Given the description of an element on the screen output the (x, y) to click on. 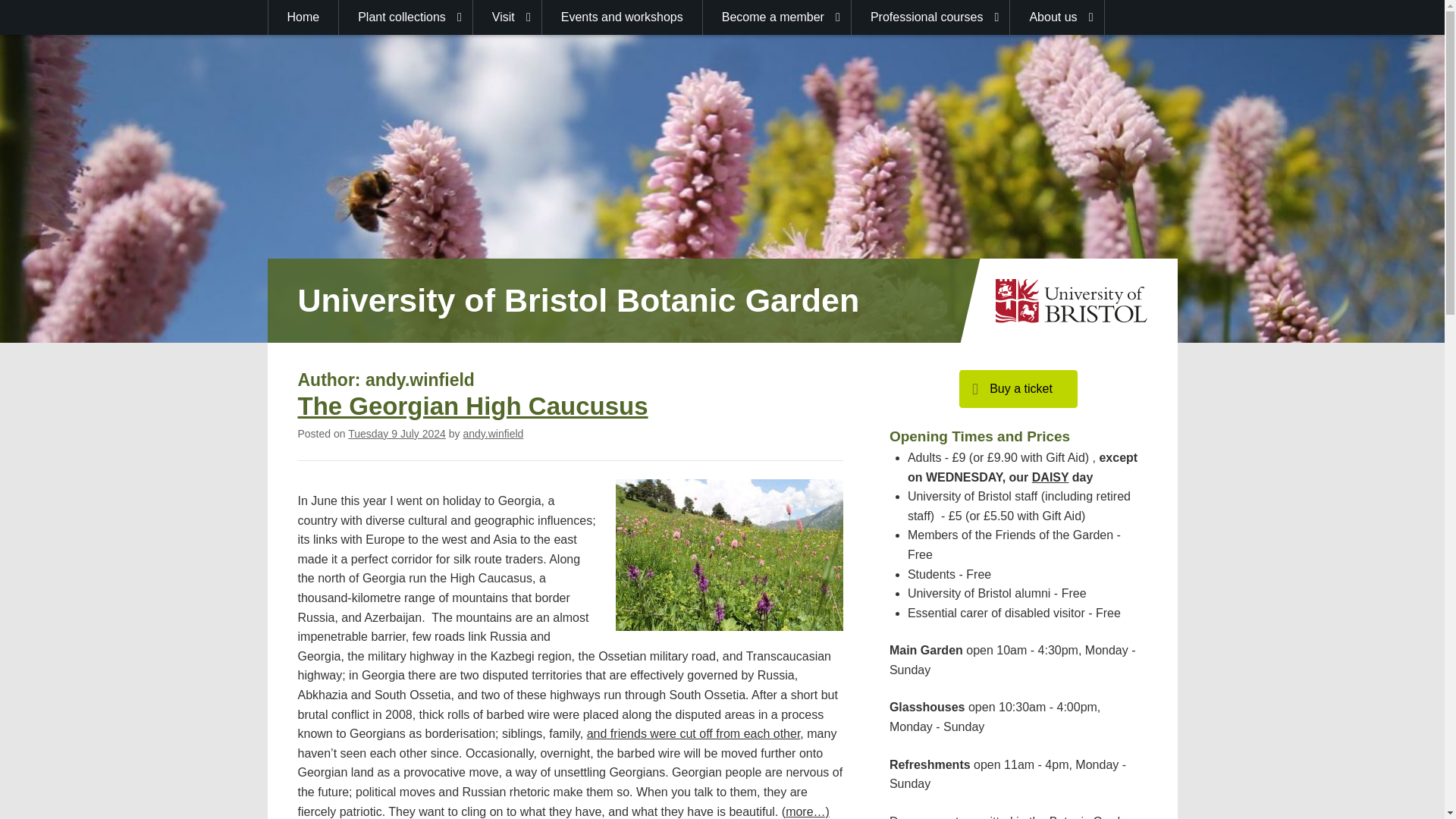
and friends were cut off from each other (693, 733)
andy.winfield (492, 433)
The Georgian High Caucusus (472, 406)
Plant collections (406, 17)
Events and workshops (622, 17)
Visit (507, 17)
Home (303, 17)
University of Bristol Botanic Garden (578, 299)
About us (1056, 17)
Tuesday 9 July 2024 (396, 433)
Professional courses (930, 17)
Become a member (777, 17)
